Given the description of an element on the screen output the (x, y) to click on. 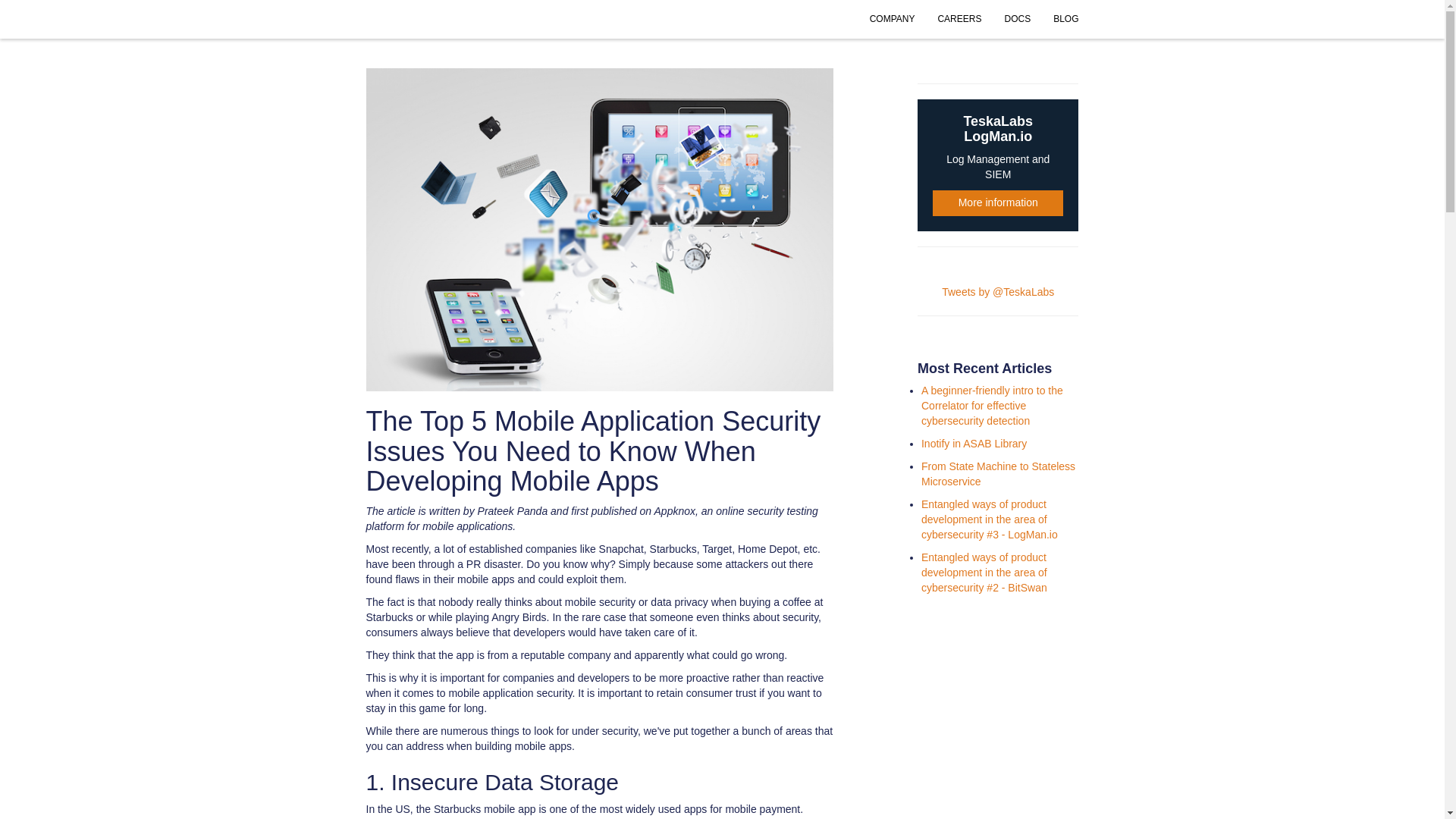
BLOG (1065, 19)
COMPANY (892, 19)
mobile apps image (997, 164)
From State Machine to Stateless Microservice (1017, 19)
Inotify in ASAB Library (998, 473)
CAREERS (973, 443)
